Given the description of an element on the screen output the (x, y) to click on. 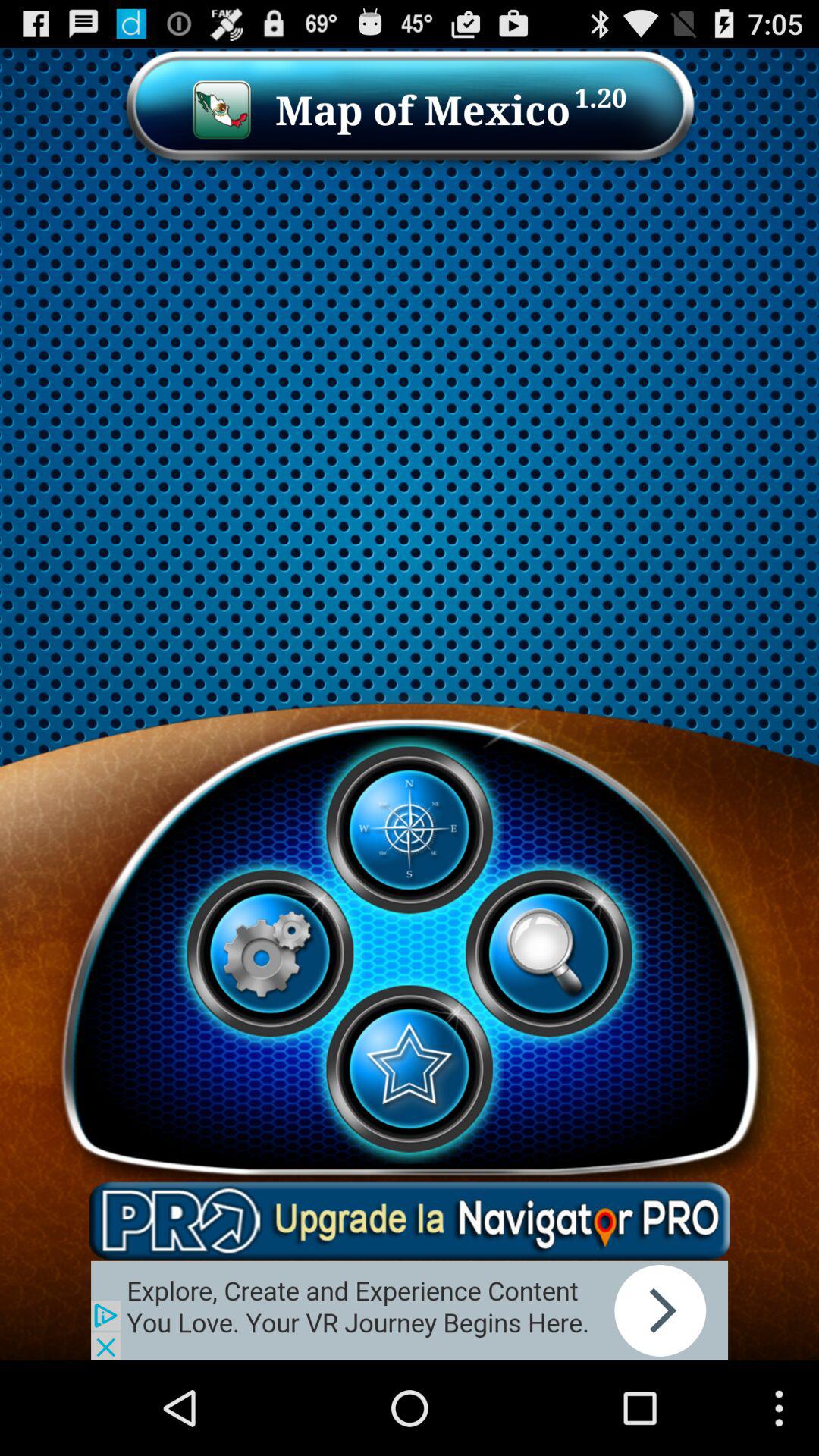
go to search (548, 953)
